Given the description of an element on the screen output the (x, y) to click on. 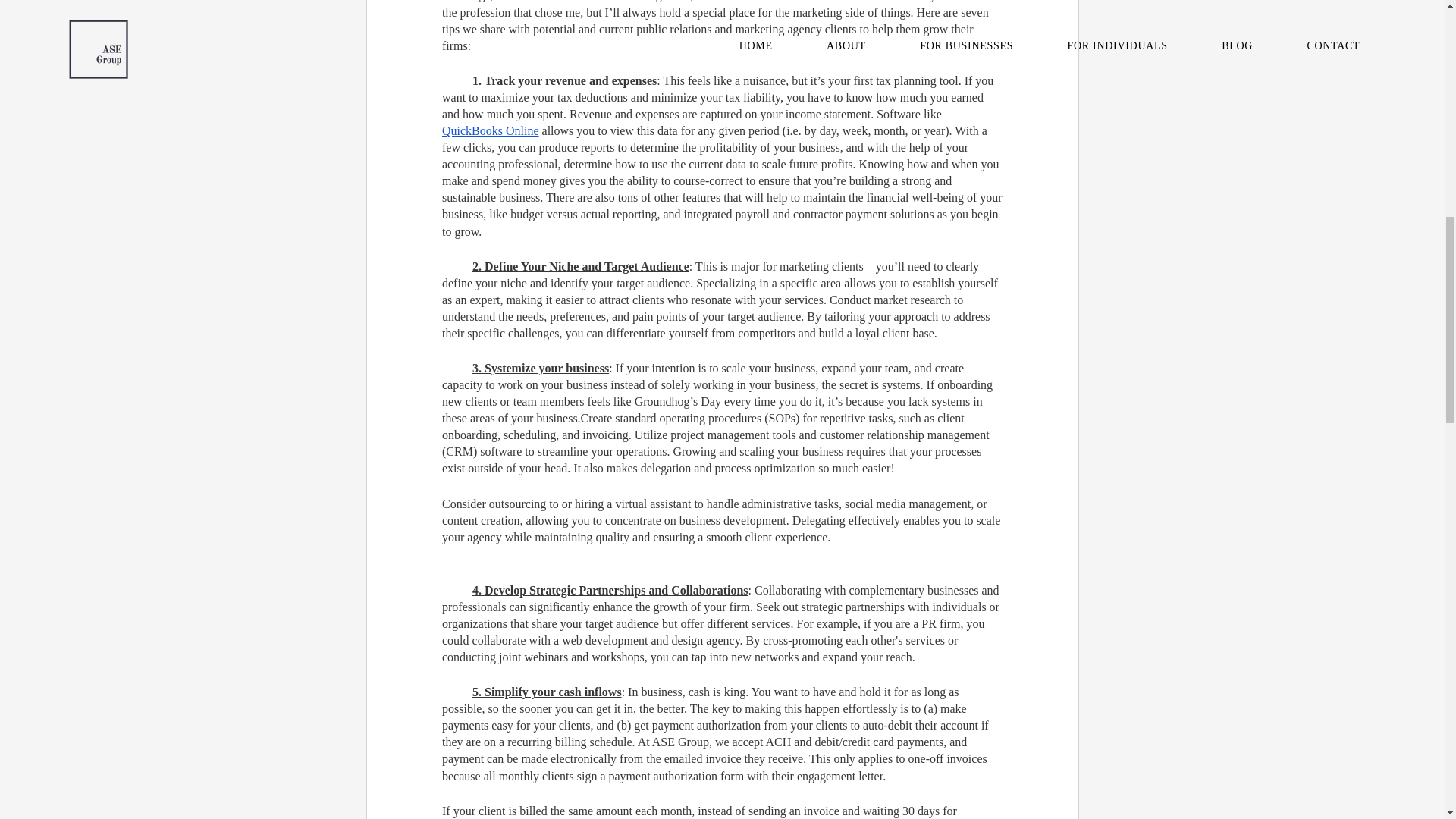
QuickBooks Online (489, 130)
